Given the description of an element on the screen output the (x, y) to click on. 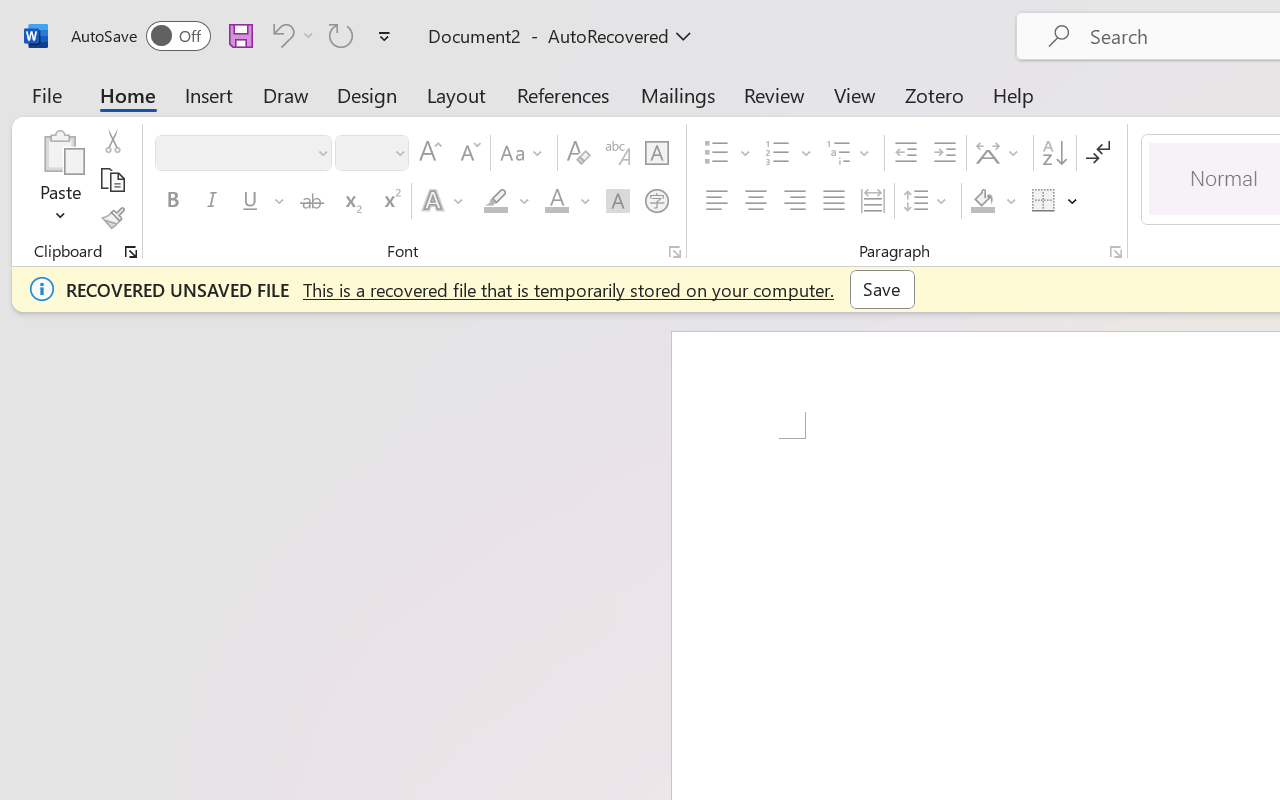
Change Case (524, 153)
Can't Undo (280, 35)
Shrink Font (468, 153)
Text Highlight Color (506, 201)
Font Color RGB(255, 0, 0) (556, 201)
Open (399, 152)
Italic (212, 201)
Align Right (794, 201)
Cut (112, 141)
Shading RGB(0, 0, 0) (982, 201)
